Given the description of an element on the screen output the (x, y) to click on. 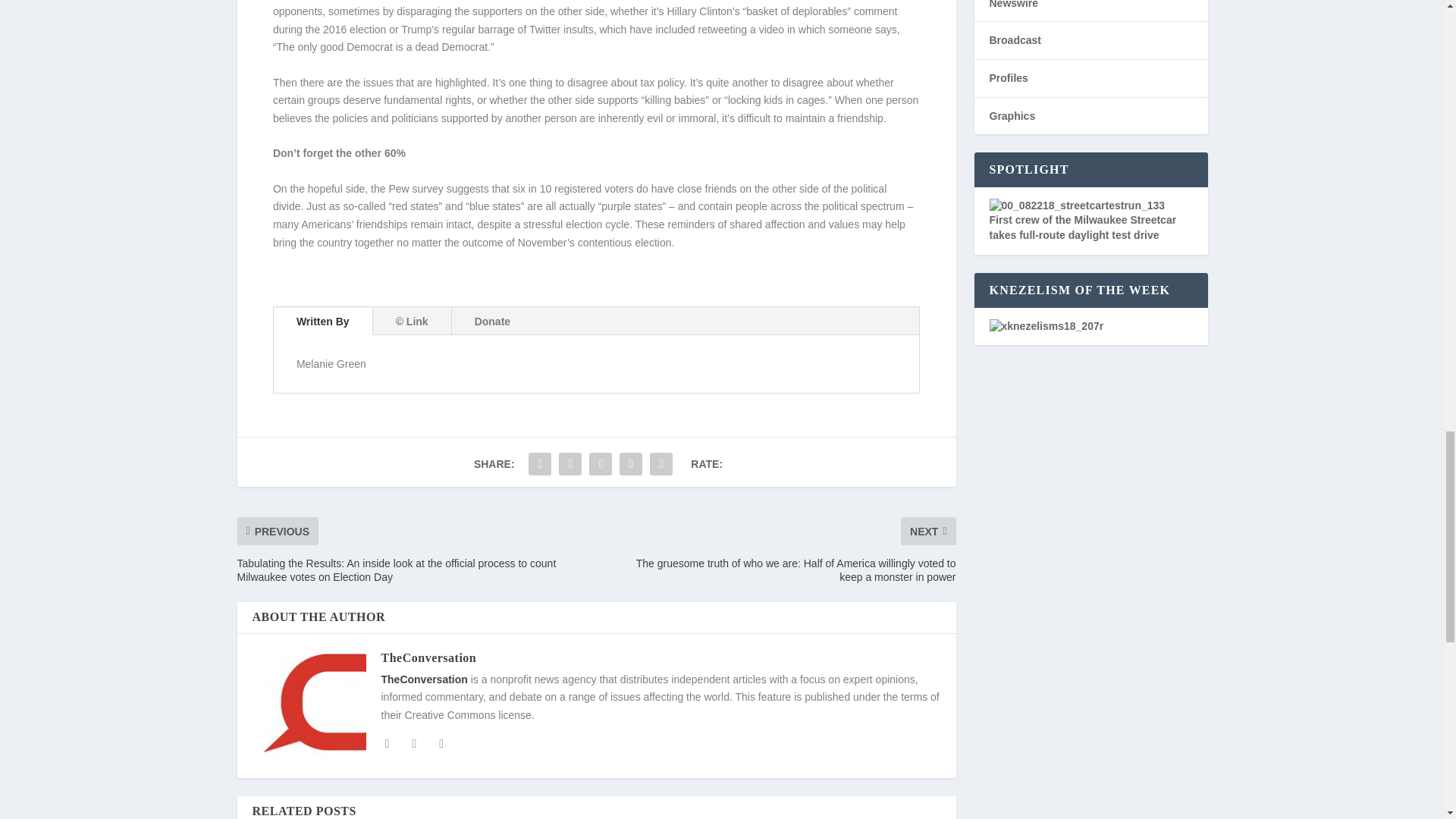
Melanie Green (331, 363)
Written By (323, 321)
Donate (492, 321)
View all posts by TheConversation (428, 657)
